Given the description of an element on the screen output the (x, y) to click on. 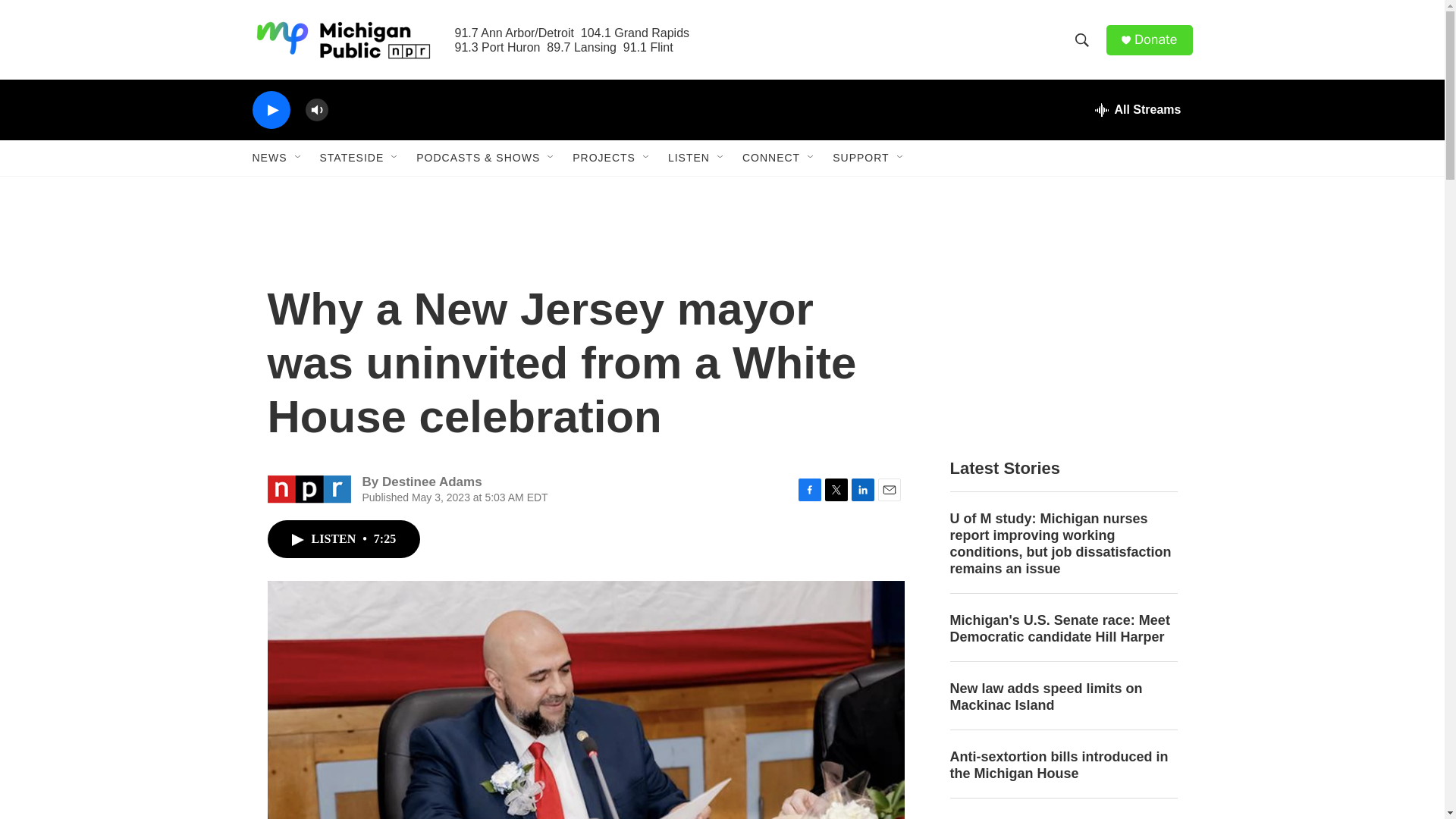
3rd party ad content (1062, 331)
